Given the description of an element on the screen output the (x, y) to click on. 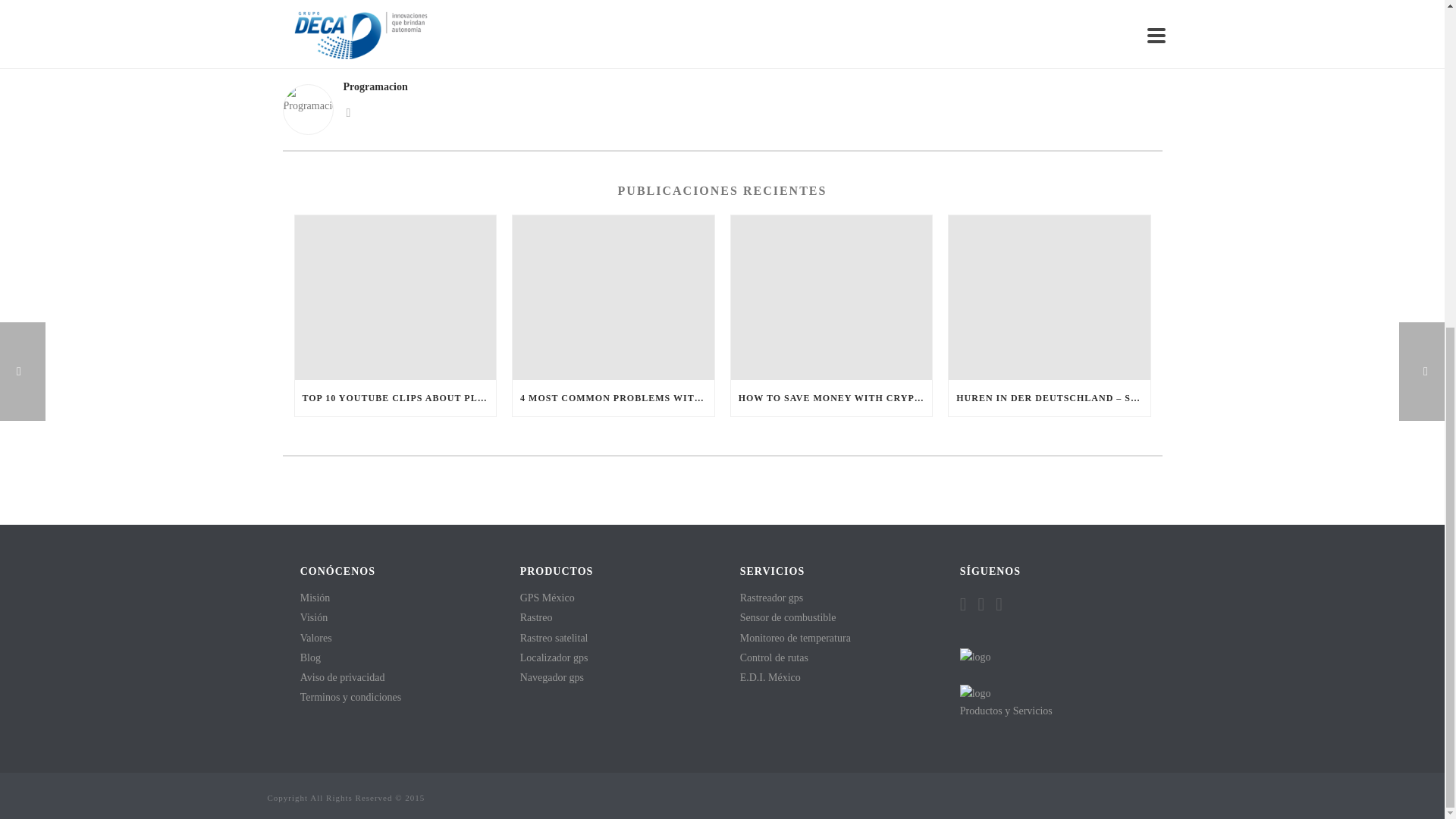
Sensor de combustible (787, 617)
Top 10 YouTube Clips About Plinko wahrscheinlichkeit (395, 297)
Terminos y condiciones (350, 696)
Rastreador gps (771, 597)
Programacion (721, 86)
Blog (309, 657)
Navegador gps (551, 677)
